Given the description of an element on the screen output the (x, y) to click on. 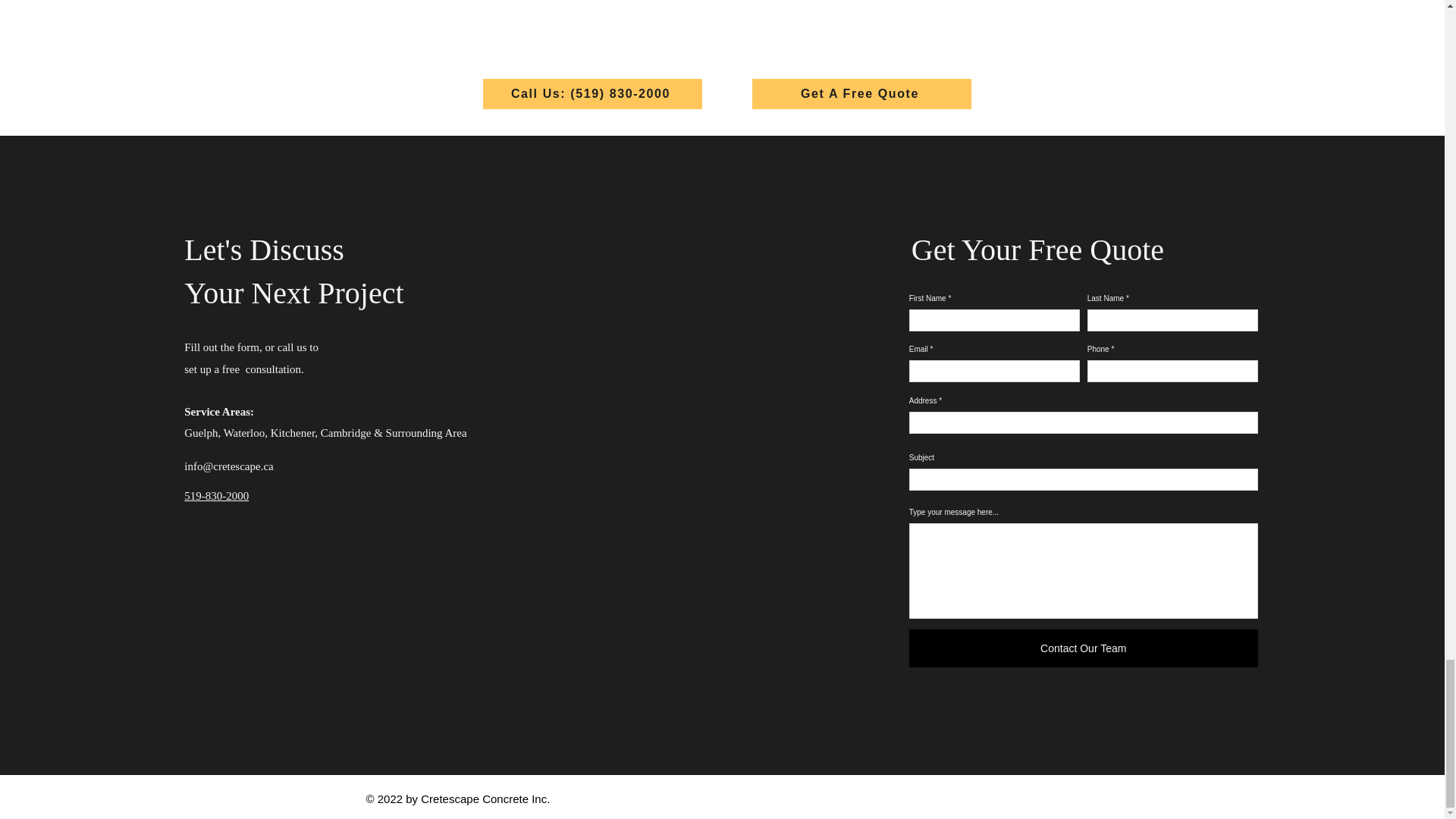
Get A Free Quote (861, 93)
519-830-2000 (216, 495)
Contact Our Team (1082, 648)
